Given the description of an element on the screen output the (x, y) to click on. 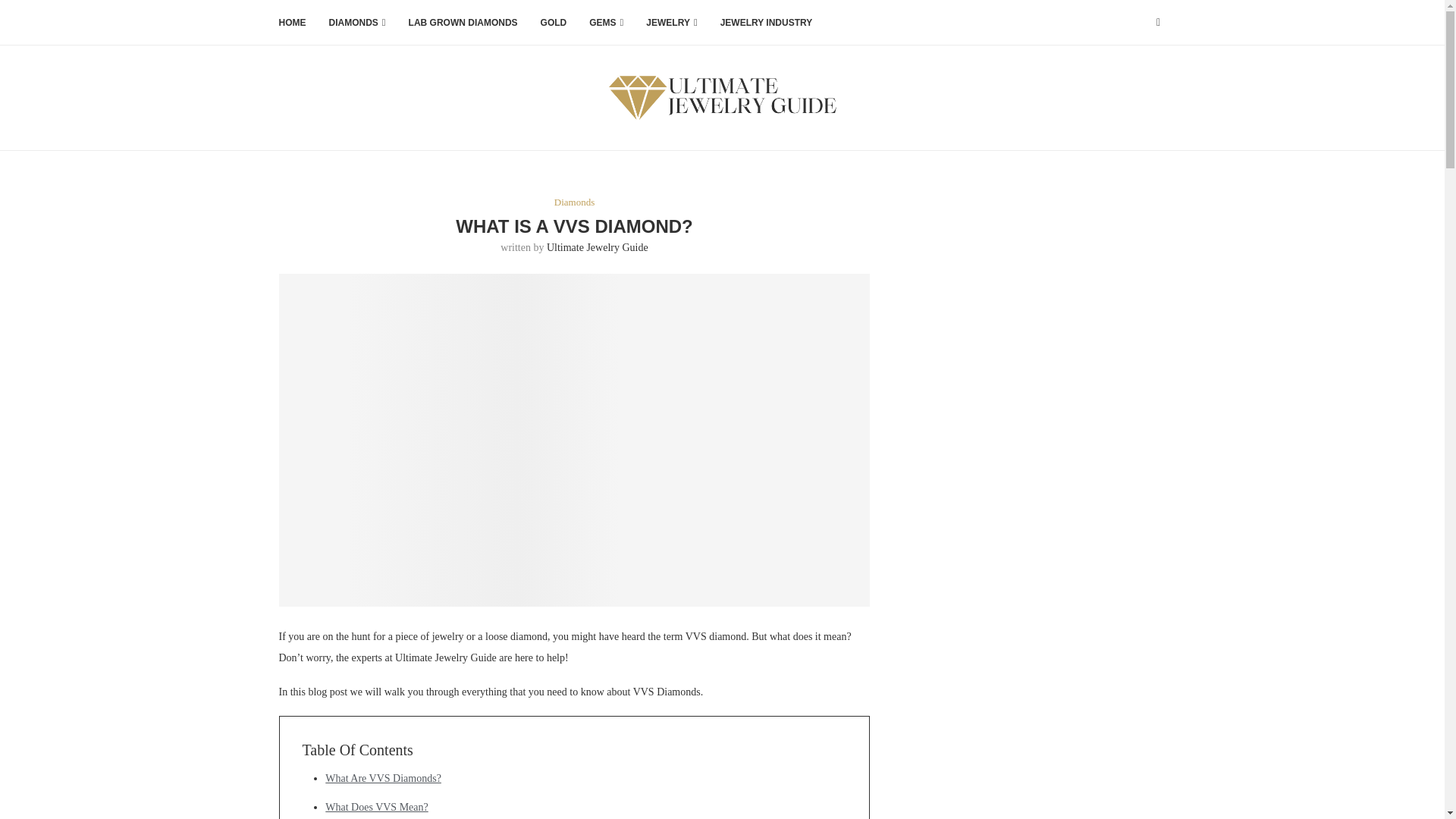
LAB GROWN DIAMONDS (463, 22)
DIAMONDS (357, 22)
